Given the description of an element on the screen output the (x, y) to click on. 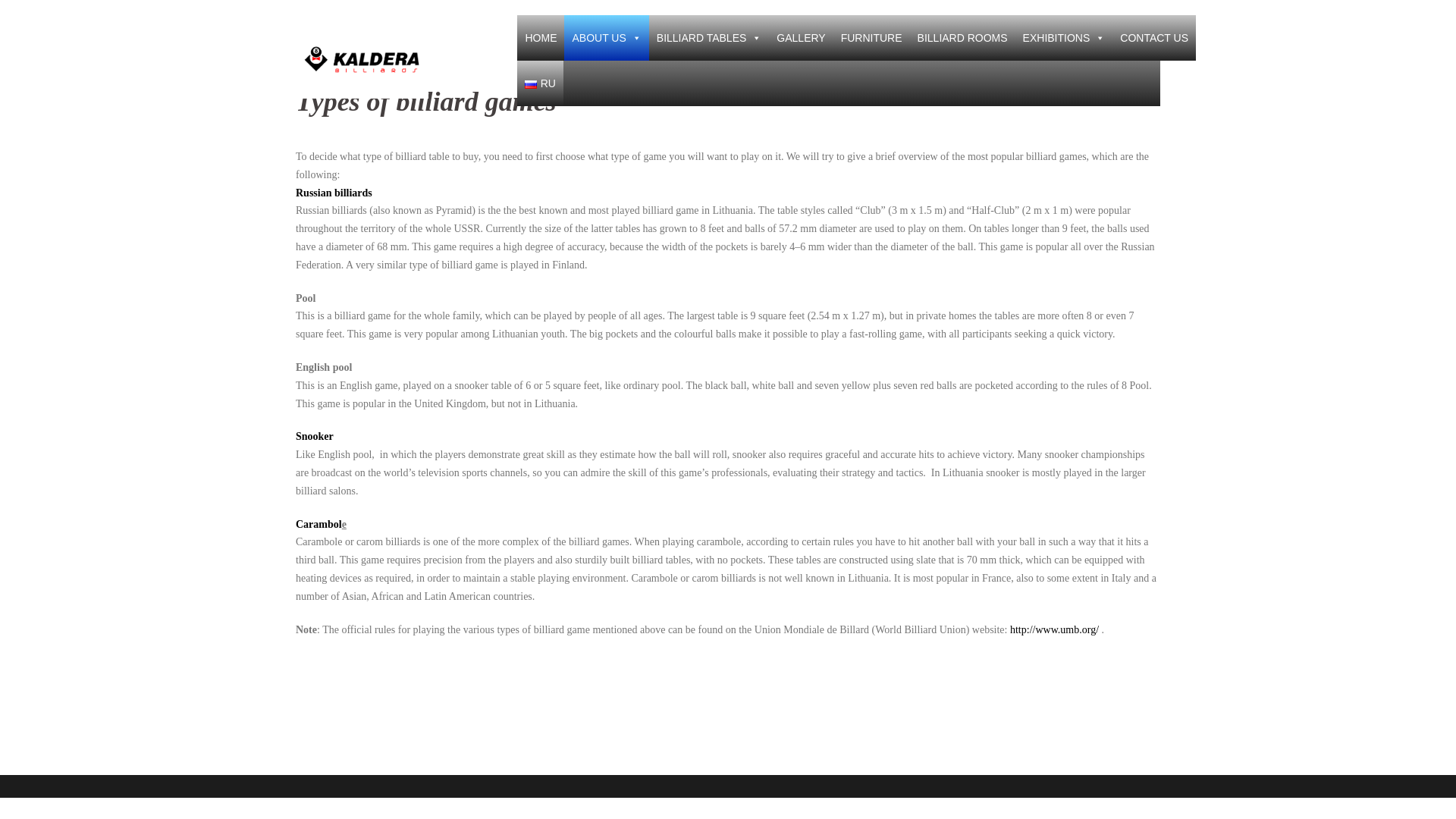
HOME (540, 37)
BILLIARD TABLES (709, 37)
Snooker (314, 436)
Carambol (318, 523)
BILLIARD ROOMS (962, 37)
GALLERY (800, 37)
Kaldera Billiards (361, 60)
Russian billiards (333, 193)
CONTACT US (1153, 37)
